Given the description of an element on the screen output the (x, y) to click on. 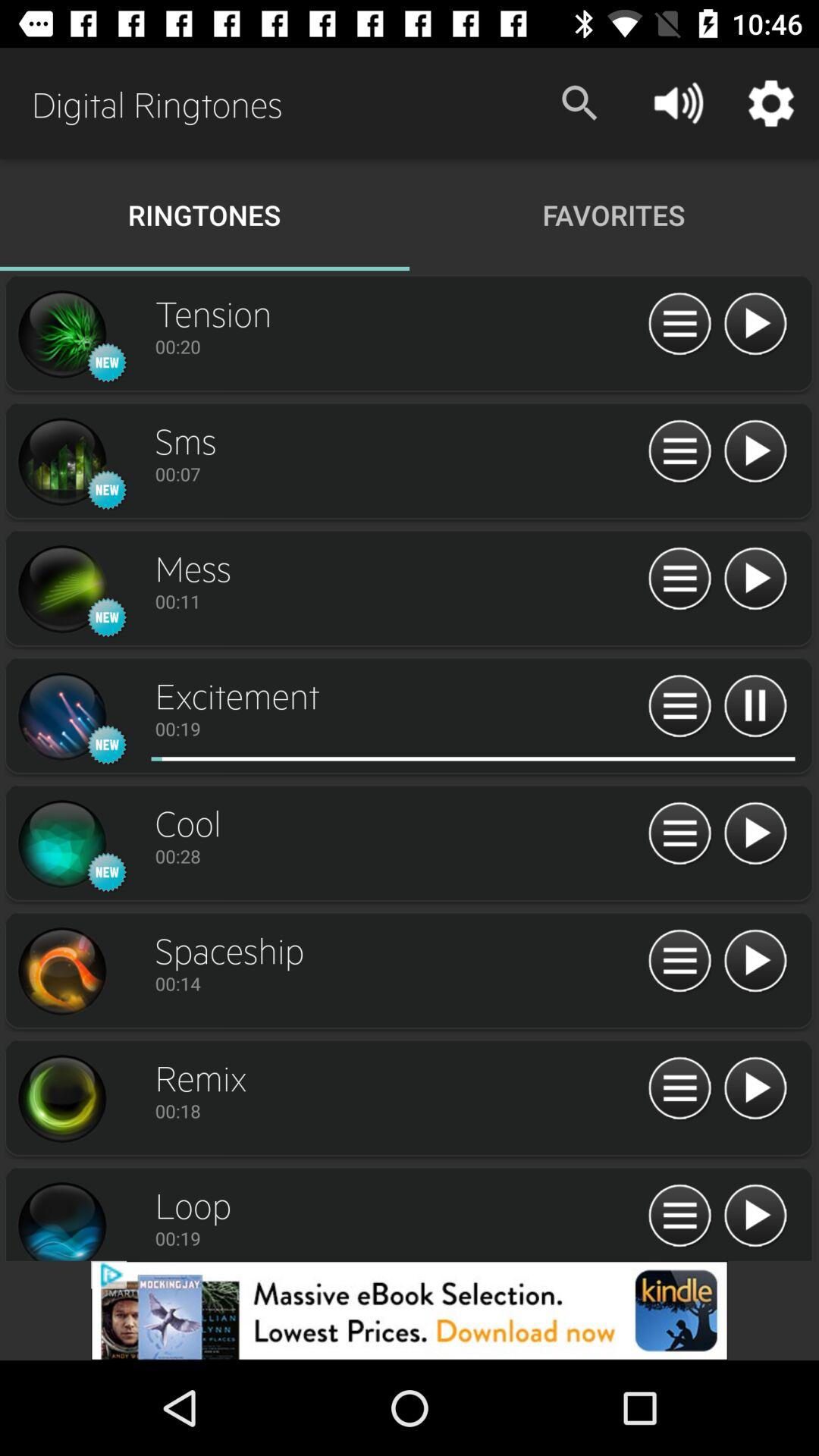
setting (61, 334)
